Given the description of an element on the screen output the (x, y) to click on. 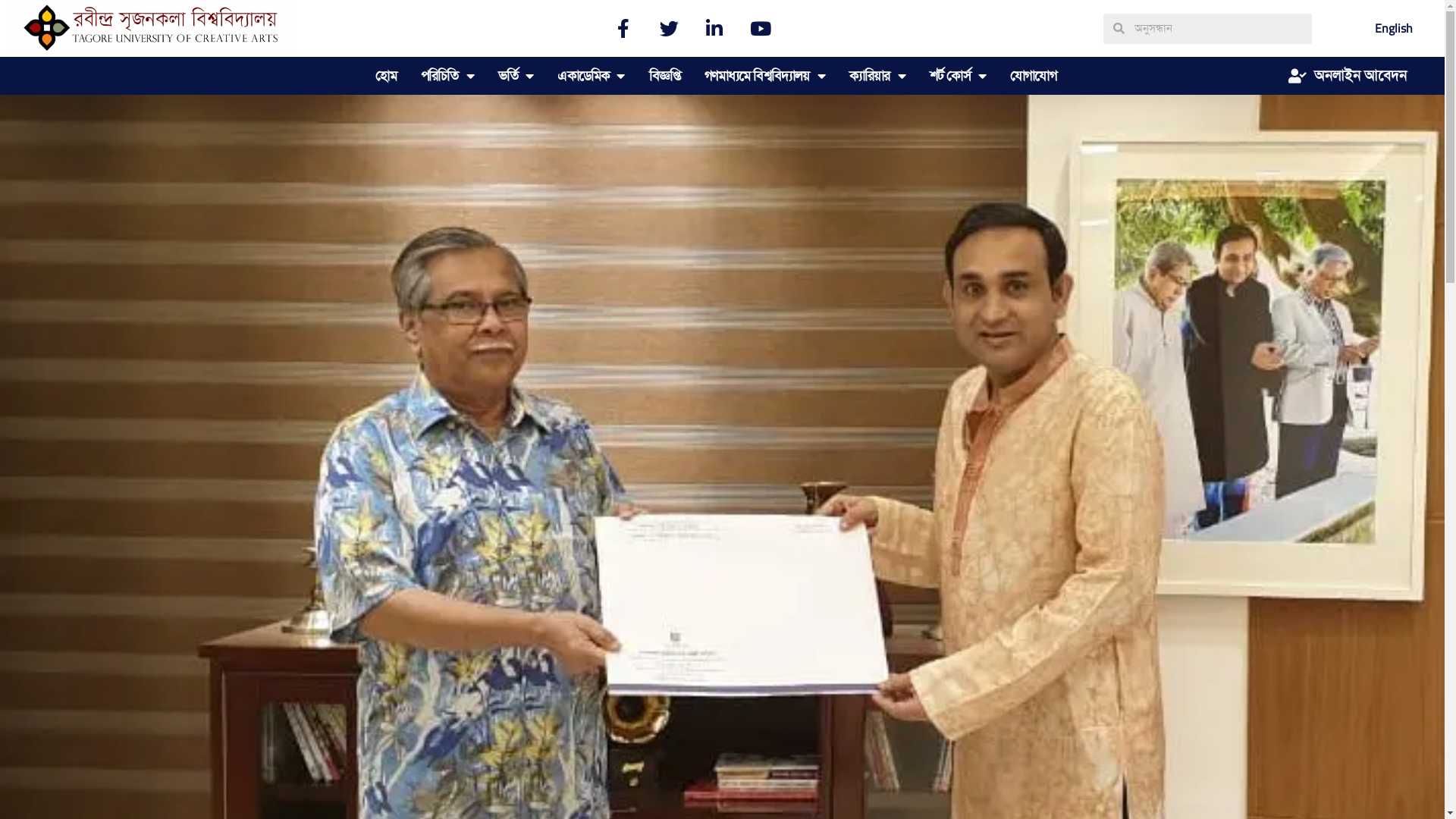
TUCA Element type: hover (151, 28)
English Element type: text (1393, 28)
Search Element type: hover (1217, 28)
